Given the description of an element on the screen output the (x, y) to click on. 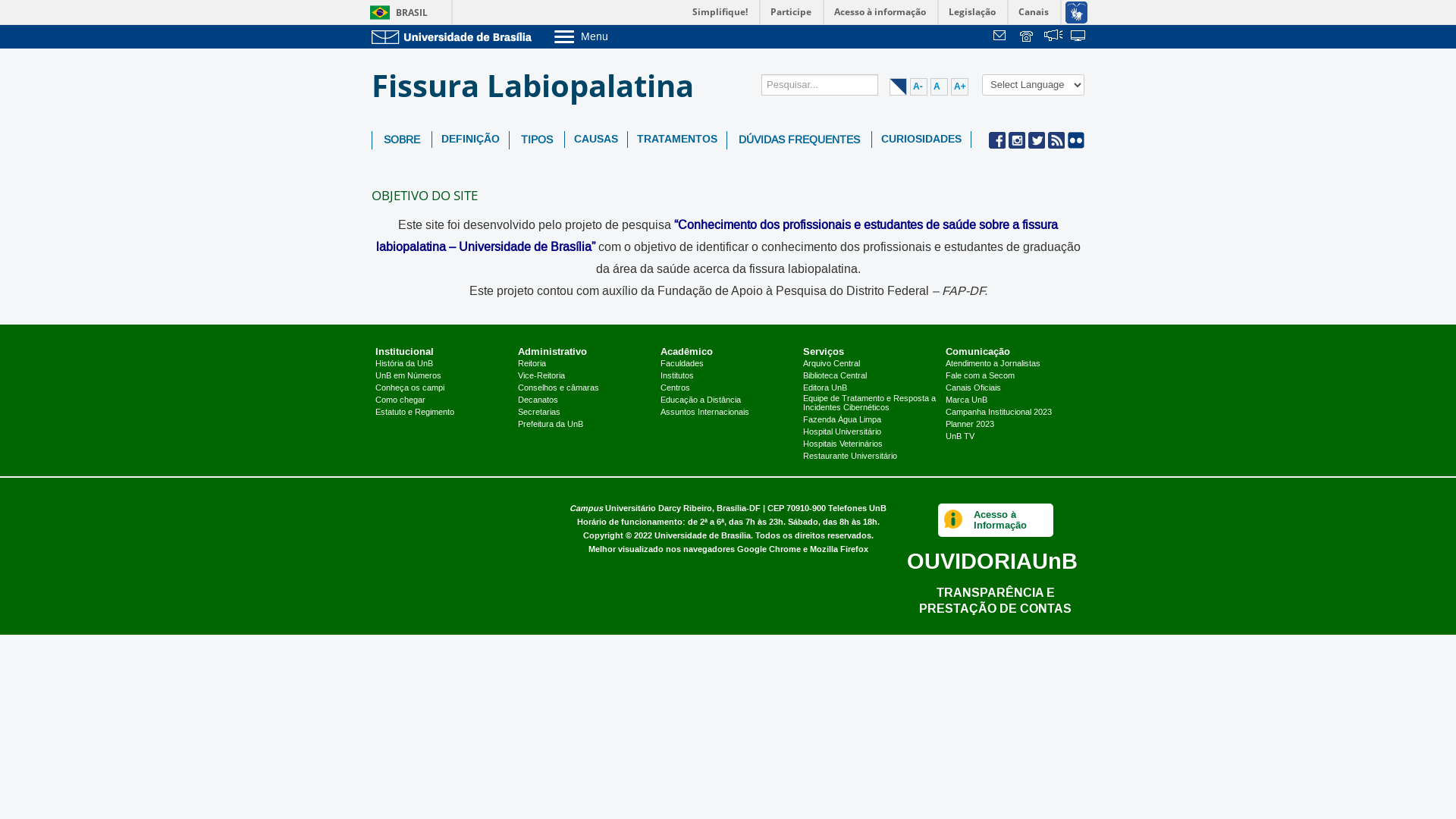
Biblioteca Central Element type: text (834, 375)
Como chegar Element type: text (400, 399)
CAUSAS Element type: text (595, 139)
Assuntos Internacionais Element type: text (704, 412)
Menu Element type: text (619, 35)
  Element type: text (1001, 37)
Fale com a Secom Element type: text (979, 375)
Atendimento a Jornalistas Element type: text (992, 363)
Institutos Element type: text (676, 375)
  Element type: text (1079, 37)
Ir para o Portal da UnB Element type: hover (454, 36)
Fissura Labiopalatina Element type: text (538, 85)
CURIOSIDADES Element type: text (921, 139)
Faculdades Element type: text (681, 363)
Canais Oficiais Element type: text (973, 387)
Telefones UnB Element type: text (857, 508)
A- Element type: text (918, 86)
Vice-Reitoria Element type: text (540, 375)
Campanha Institucional 2023 Element type: text (998, 412)
Centros Element type: text (675, 387)
TRATAMENTOS Element type: text (676, 139)
Planner 2023 Element type: text (969, 424)
Secretarias Element type: text (538, 412)
Arquivo Central Element type: text (831, 363)
  Element type: text (1053, 37)
Fala.BR Element type: hover (1053, 37)
OUVIDORIAUnB Element type: text (991, 560)
Marca UnB Element type: text (966, 399)
Estatuto e Regimento Element type: text (414, 412)
  Element type: text (1027, 37)
A+ Element type: text (959, 86)
Prefeitura da UnB Element type: text (550, 424)
Telefones da UnB Element type: hover (1027, 37)
Reitoria Element type: text (531, 363)
Webmail Element type: hover (1001, 37)
Editora UnB Element type: text (825, 387)
UnB TV Element type: text (959, 436)
Decanatos Element type: text (537, 399)
A Element type: text (938, 86)
Sistemas Element type: hover (1079, 37)
BRASIL Element type: text (396, 12)
